Given the description of an element on the screen output the (x, y) to click on. 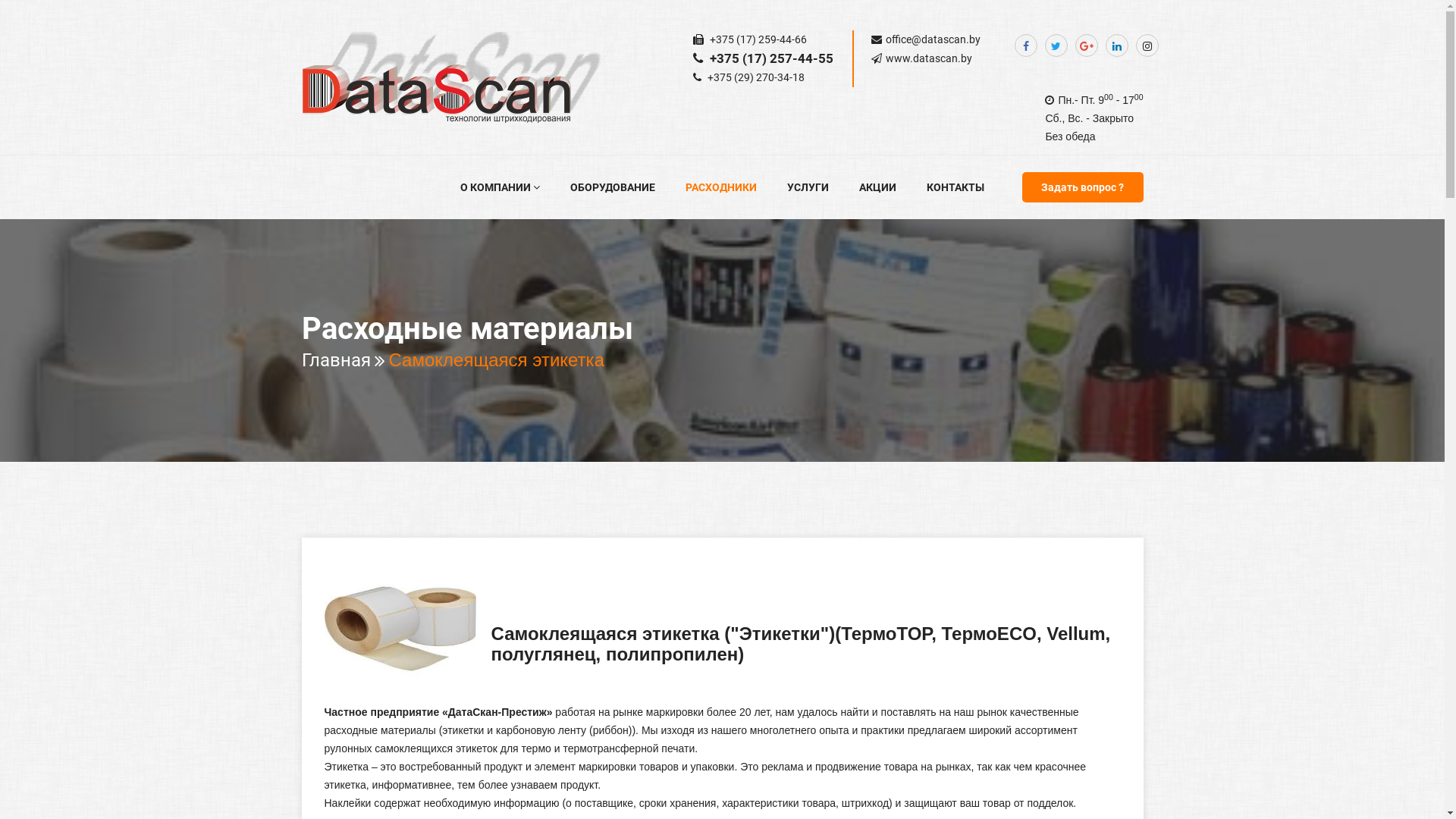
+375 (17) 259-44-66 Element type: text (756, 39)
+375 (17) 257-44-55 Element type: text (769, 57)
www.datascan.by Element type: text (928, 58)
+375 (29) 270-34-18 Element type: text (754, 77)
office@datascan.by Element type: text (932, 39)
